Given the description of an element on the screen output the (x, y) to click on. 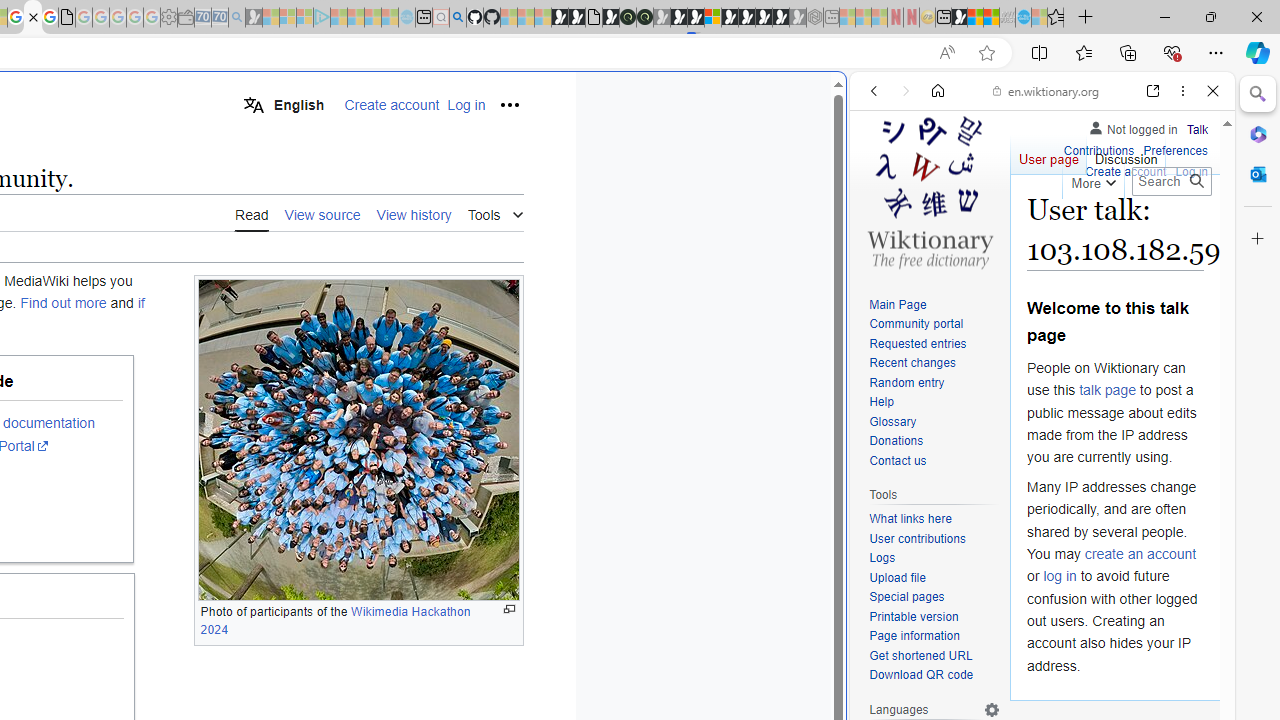
Special pages (906, 596)
Requested entries (934, 344)
Contributions (1098, 151)
Language settings (992, 709)
Special pages (934, 597)
